Given the description of an element on the screen output the (x, y) to click on. 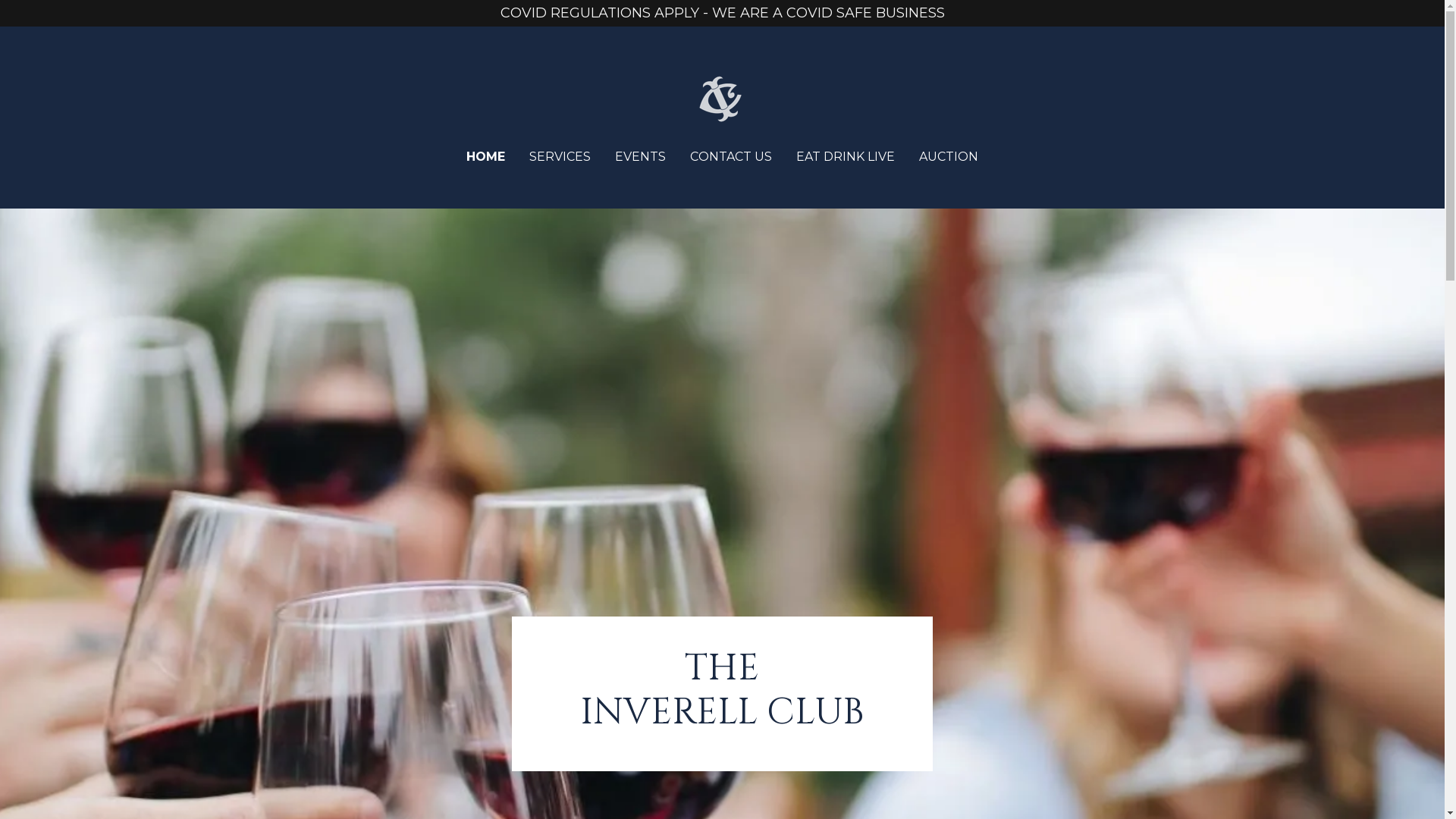
AUCTION Element type: text (948, 156)
HOME Element type: text (485, 156)
EVENTS Element type: text (640, 156)
CONTACT US Element type: text (730, 156)
EAT DRINK LIVE Element type: text (845, 156)
SERVICES Element type: text (559, 156)
